Given the description of an element on the screen output the (x, y) to click on. 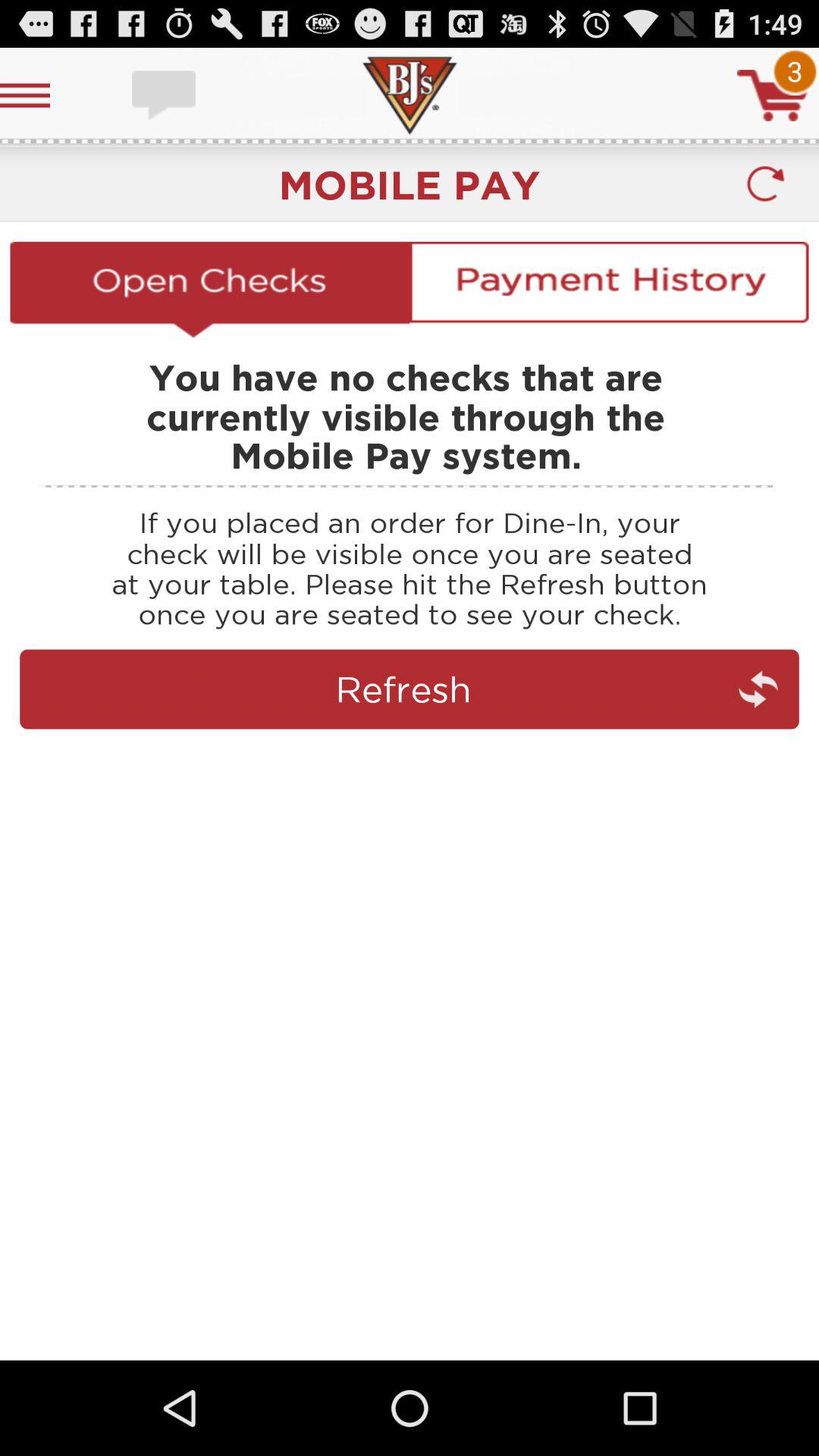
refresh button (765, 184)
